Given the description of an element on the screen output the (x, y) to click on. 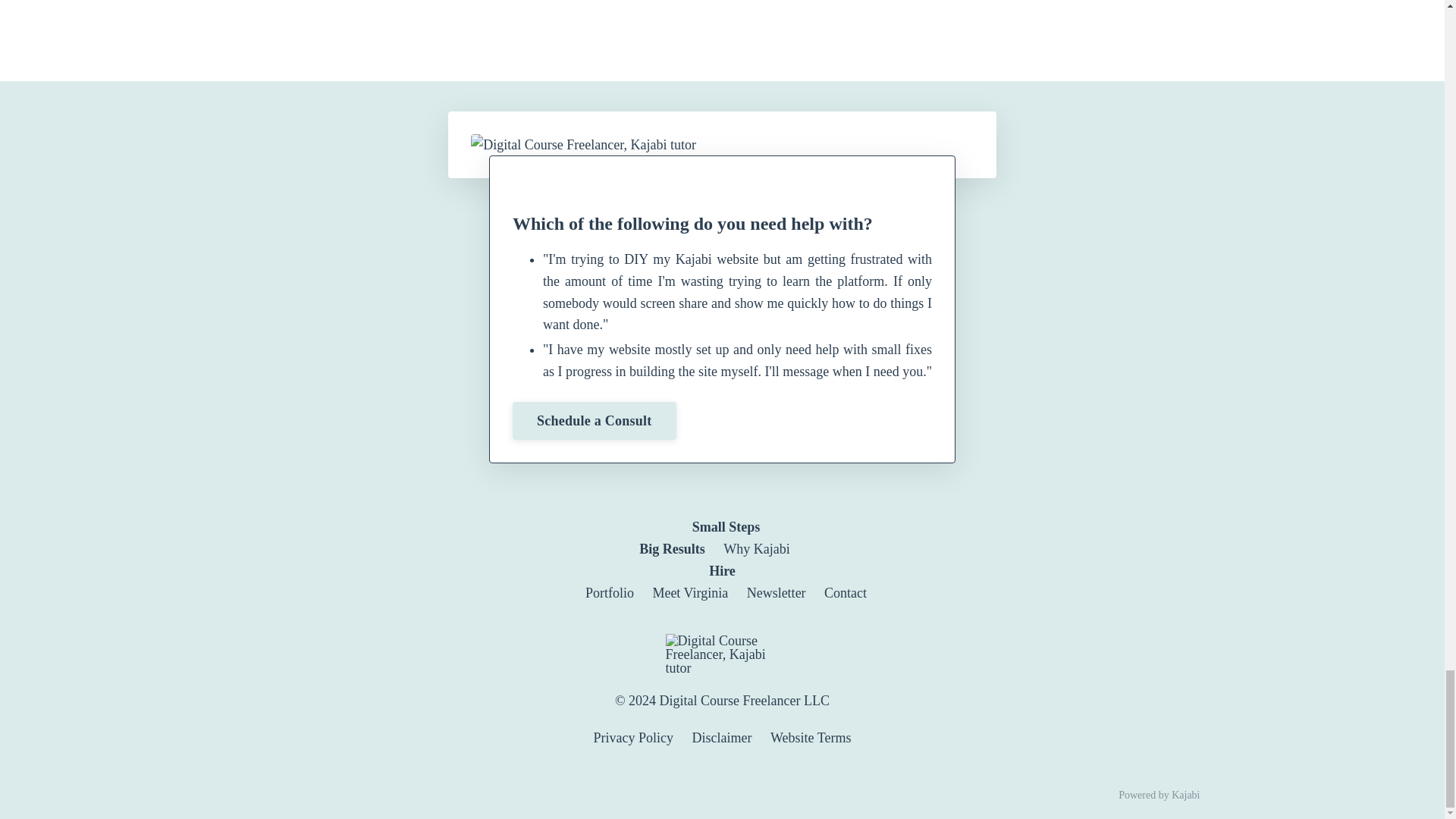
Contact (699, 537)
Newsletter (845, 592)
Privacy Policy (776, 592)
Hire (634, 737)
Why Kajabi (722, 589)
Powered by Kajabi (756, 548)
Website Terms (1158, 794)
Meet Virginia (810, 737)
Schedule a Consult (690, 592)
